Given the description of an element on the screen output the (x, y) to click on. 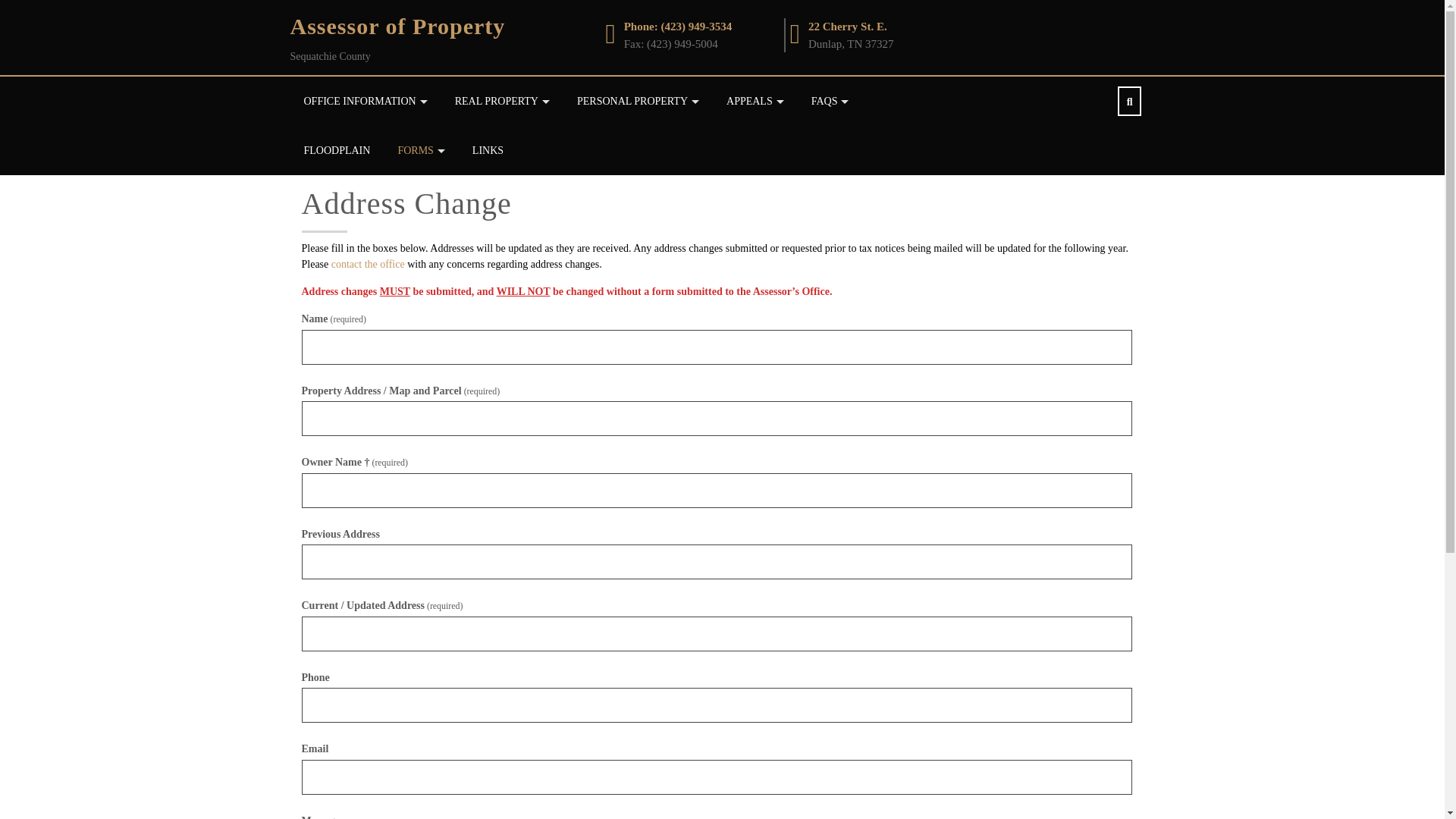
FLOODPLAIN (335, 150)
FORMS (420, 150)
FAQS (829, 101)
APPEALS (755, 101)
contact the office (367, 264)
PERSONAL PROPERTY (637, 101)
REAL PROPERTY (502, 101)
LINKS (487, 150)
Assessor of Property (397, 25)
OFFICE INFORMATION (364, 101)
